Given the description of an element on the screen output the (x, y) to click on. 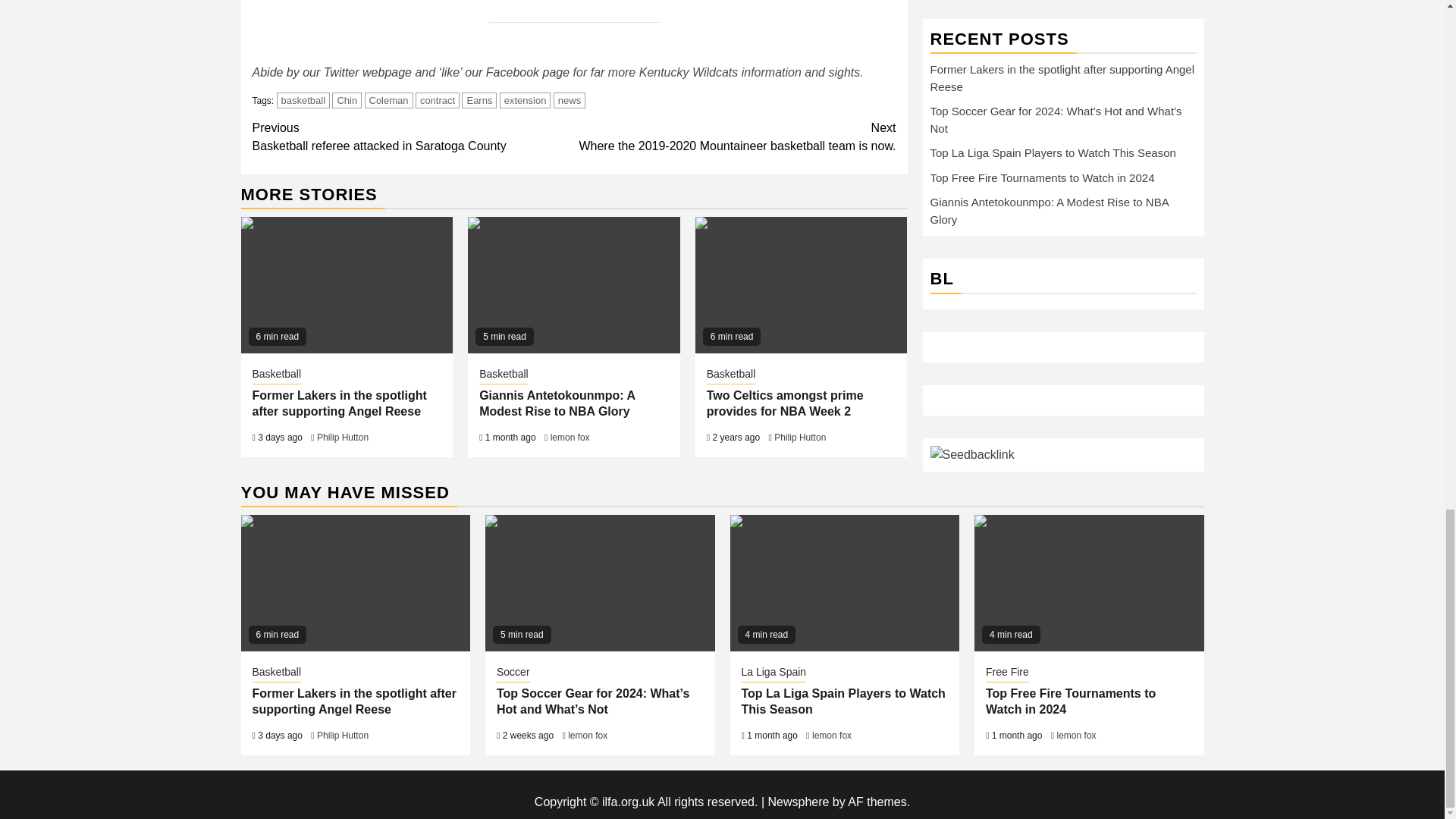
Two Celtics amongst prime provides for NBA Week 2 (801, 284)
Former Lakers (346, 284)
contract (437, 99)
Soccer Gear (599, 583)
Coleman (388, 99)
basketball (303, 99)
Top La Liga Spain Players (844, 583)
Earns (478, 99)
Chin (346, 99)
Free Fire tournaments (1089, 583)
